Given the description of an element on the screen output the (x, y) to click on. 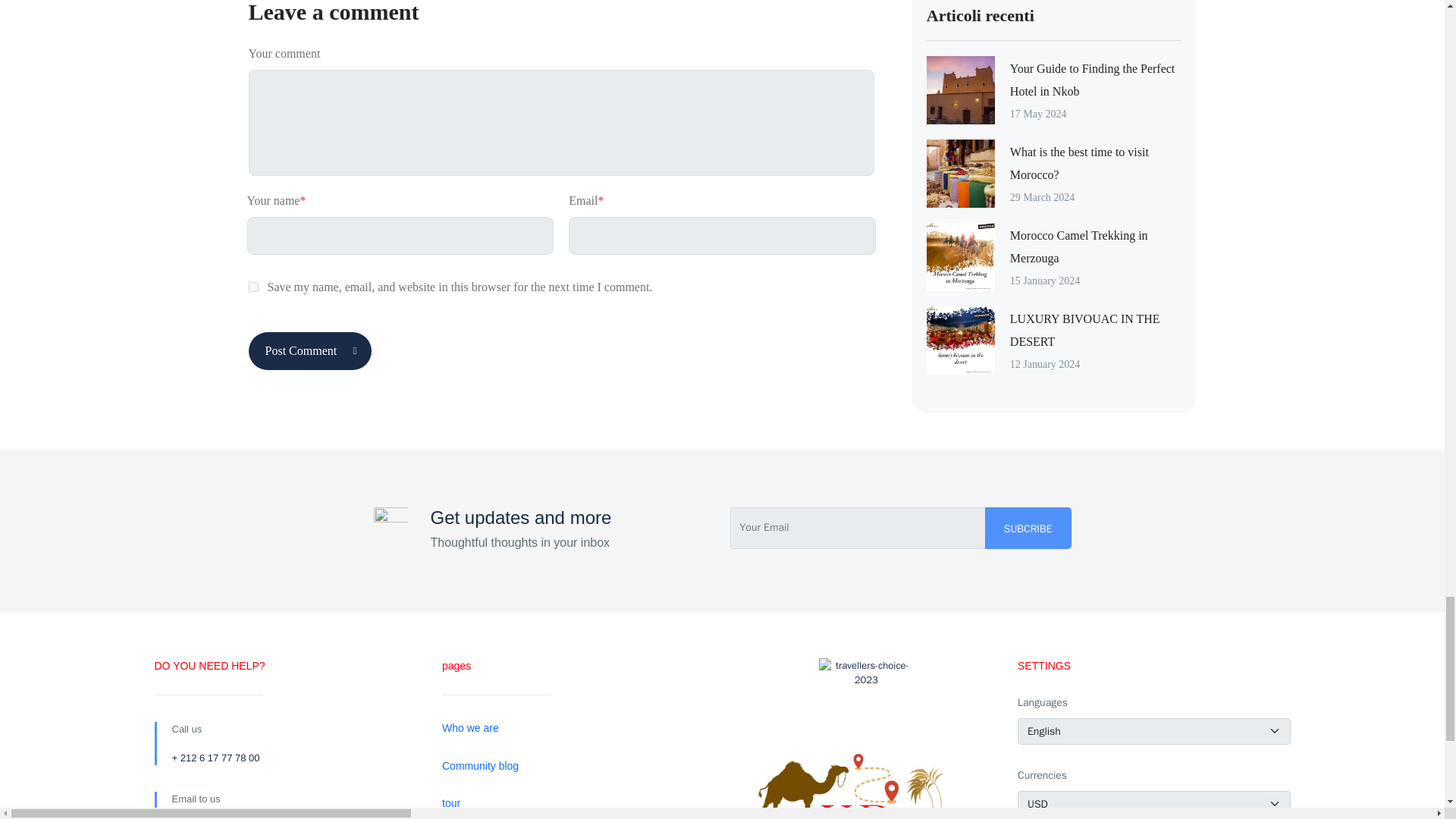
Post Comment (310, 351)
Subcribe (1028, 527)
yes (253, 286)
travellers-choice-2023 (866, 705)
